Given the description of an element on the screen output the (x, y) to click on. 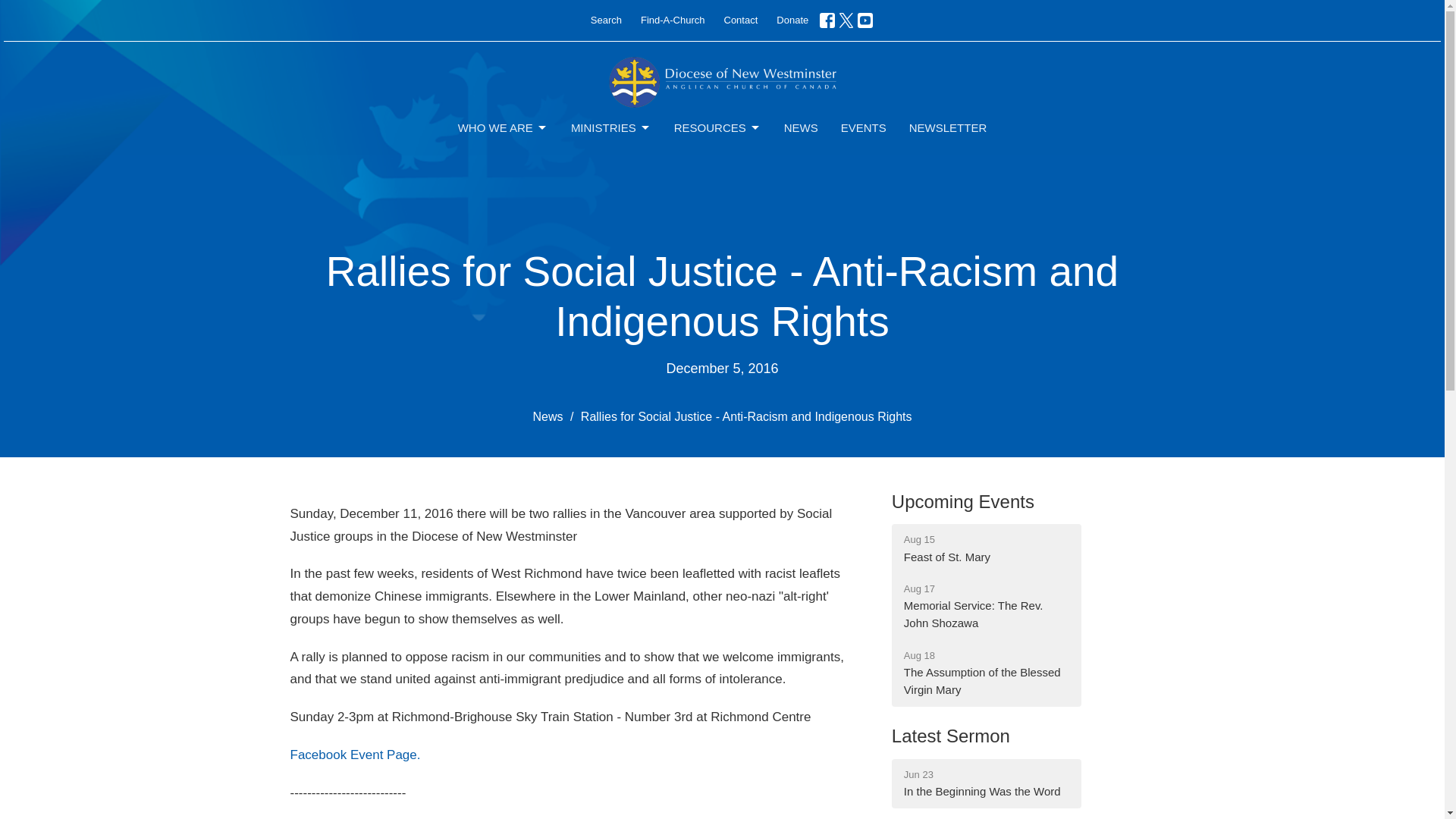
EVENTS (863, 127)
RESOURCES (717, 127)
MINISTRIES (610, 127)
Search (605, 20)
Contact (740, 20)
Donate (791, 20)
Find-A-Church (673, 20)
Facebook Event Page. (354, 754)
WHO WE ARE (503, 127)
NEWS (801, 127)
